Given the description of an element on the screen output the (x, y) to click on. 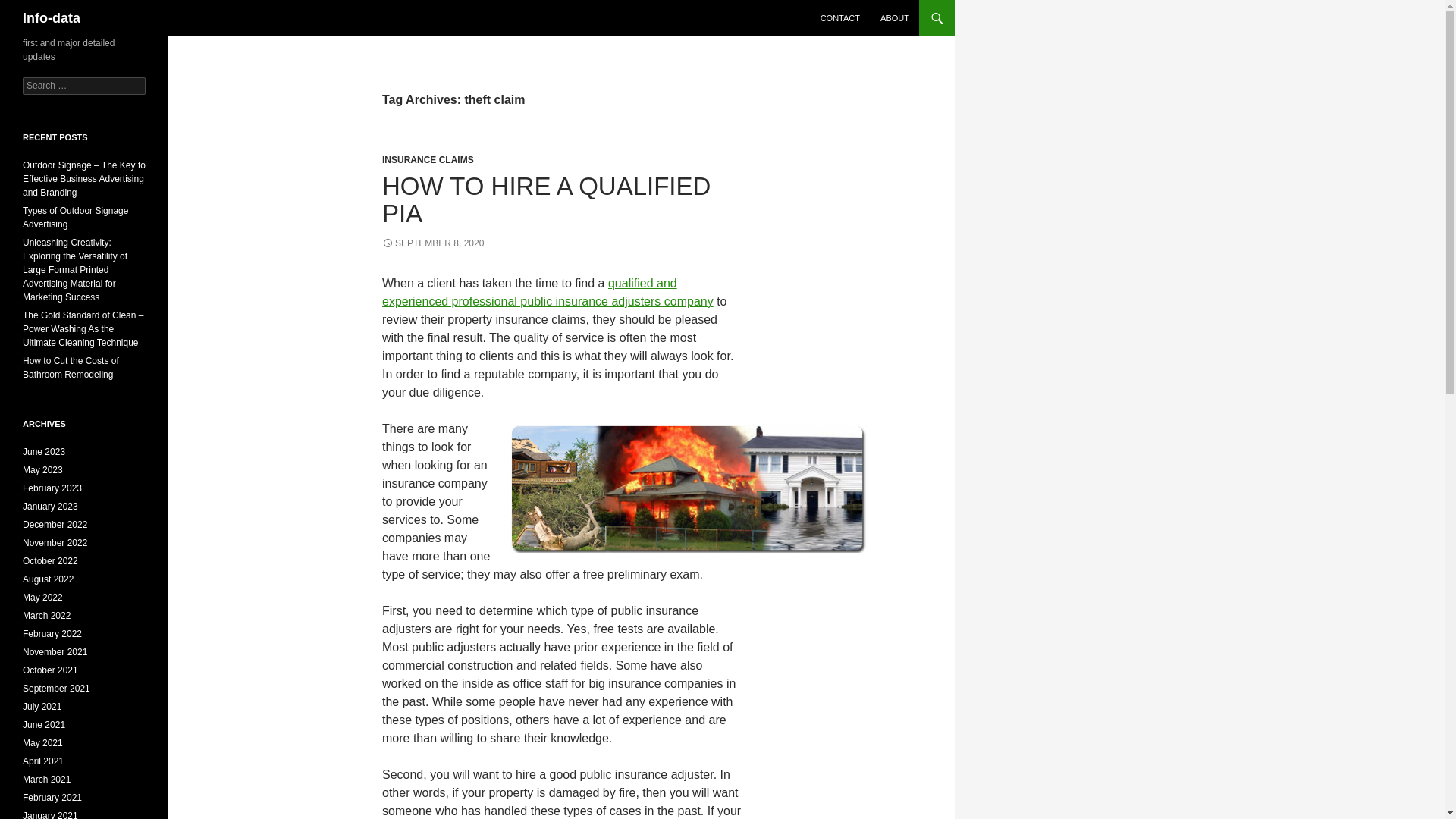
Types of Outdoor Signage Advertising (75, 217)
October 2022 (50, 561)
SEPTEMBER 8, 2020 (432, 243)
October 2021 (50, 670)
February 2022 (52, 633)
INSURANCE CLAIMS (427, 159)
Info-data (51, 18)
ABOUT (894, 18)
December 2022 (55, 524)
How to Cut the Costs of Bathroom Remodeling (71, 367)
March 2022 (46, 615)
February 2023 (52, 488)
Search (30, 8)
HOW TO HIRE A QUALIFIED PIA (545, 199)
